Given the description of an element on the screen output the (x, y) to click on. 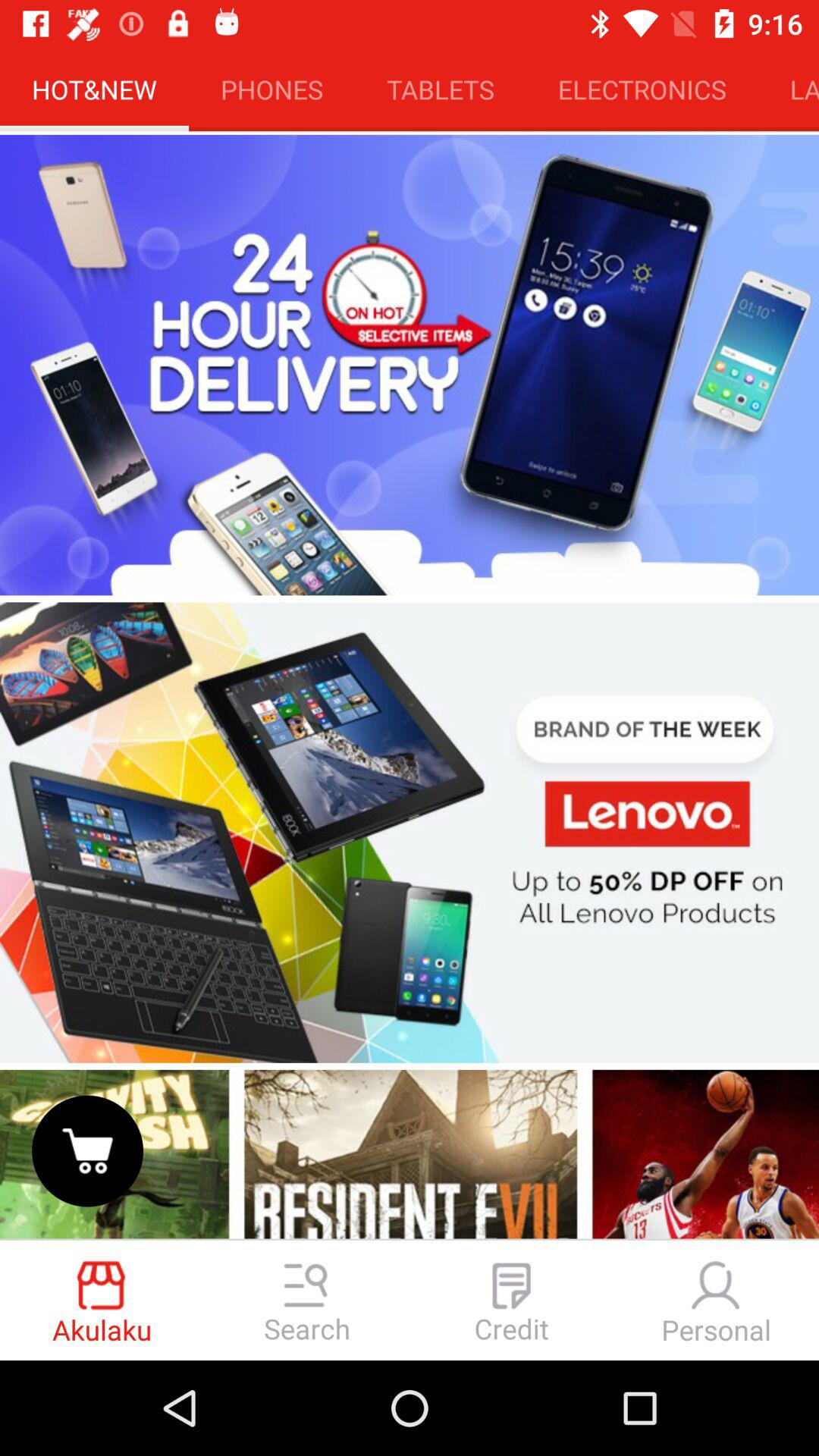
share the article (409, 1152)
